Given the description of an element on the screen output the (x, y) to click on. 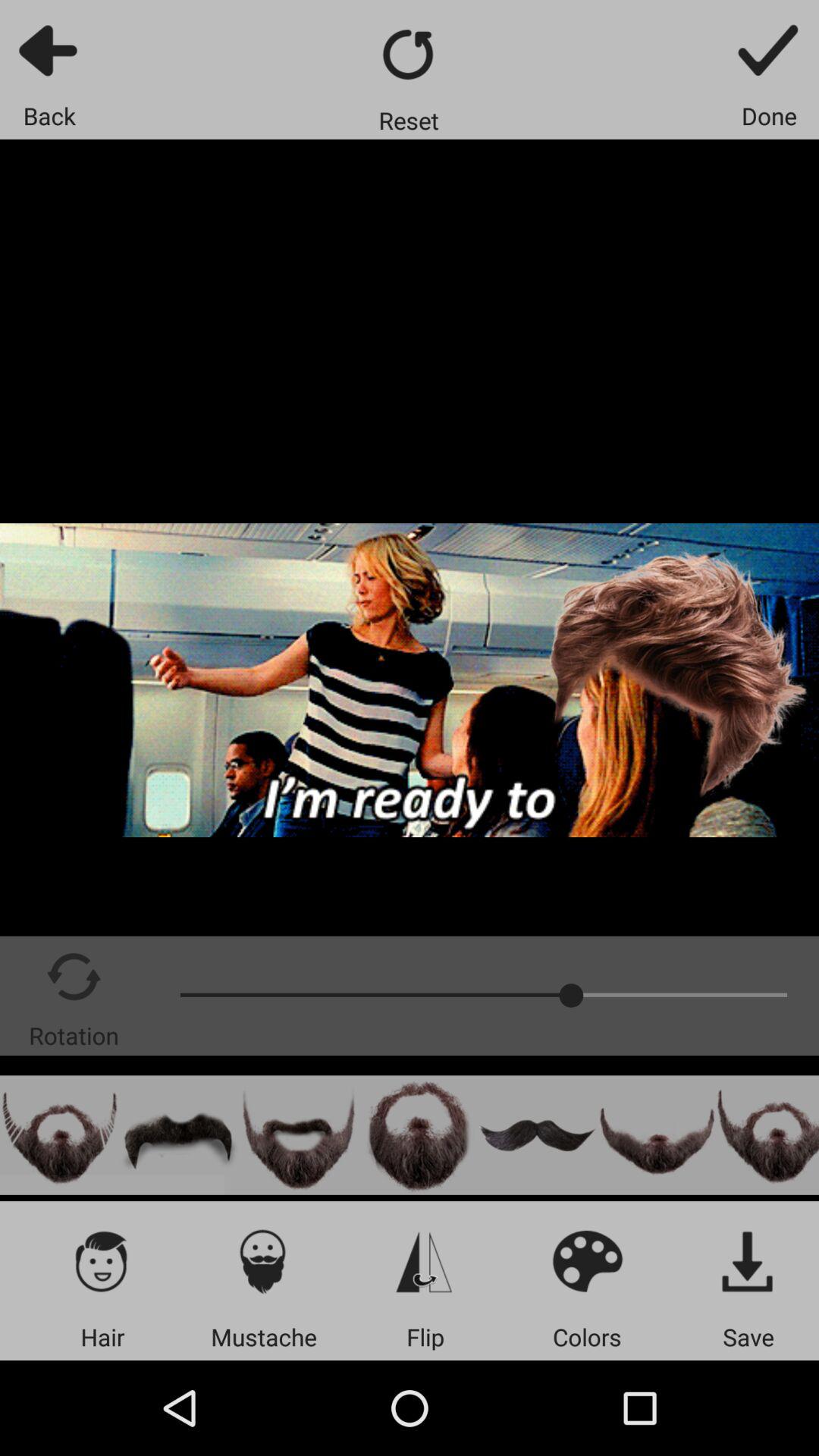
select this scene (59, 1134)
